Given the description of an element on the screen output the (x, y) to click on. 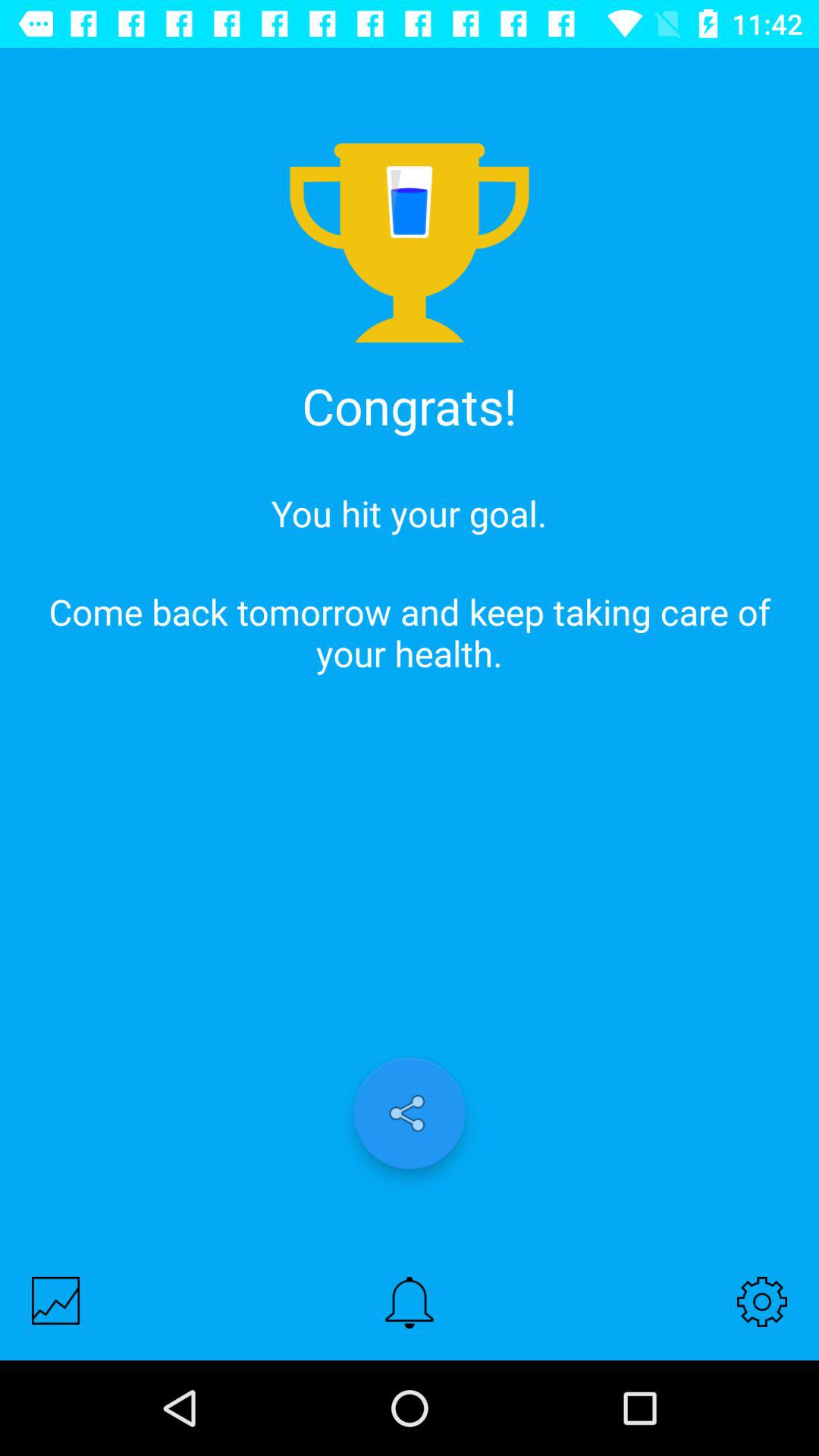
settings button (762, 1301)
